Given the description of an element on the screen output the (x, y) to click on. 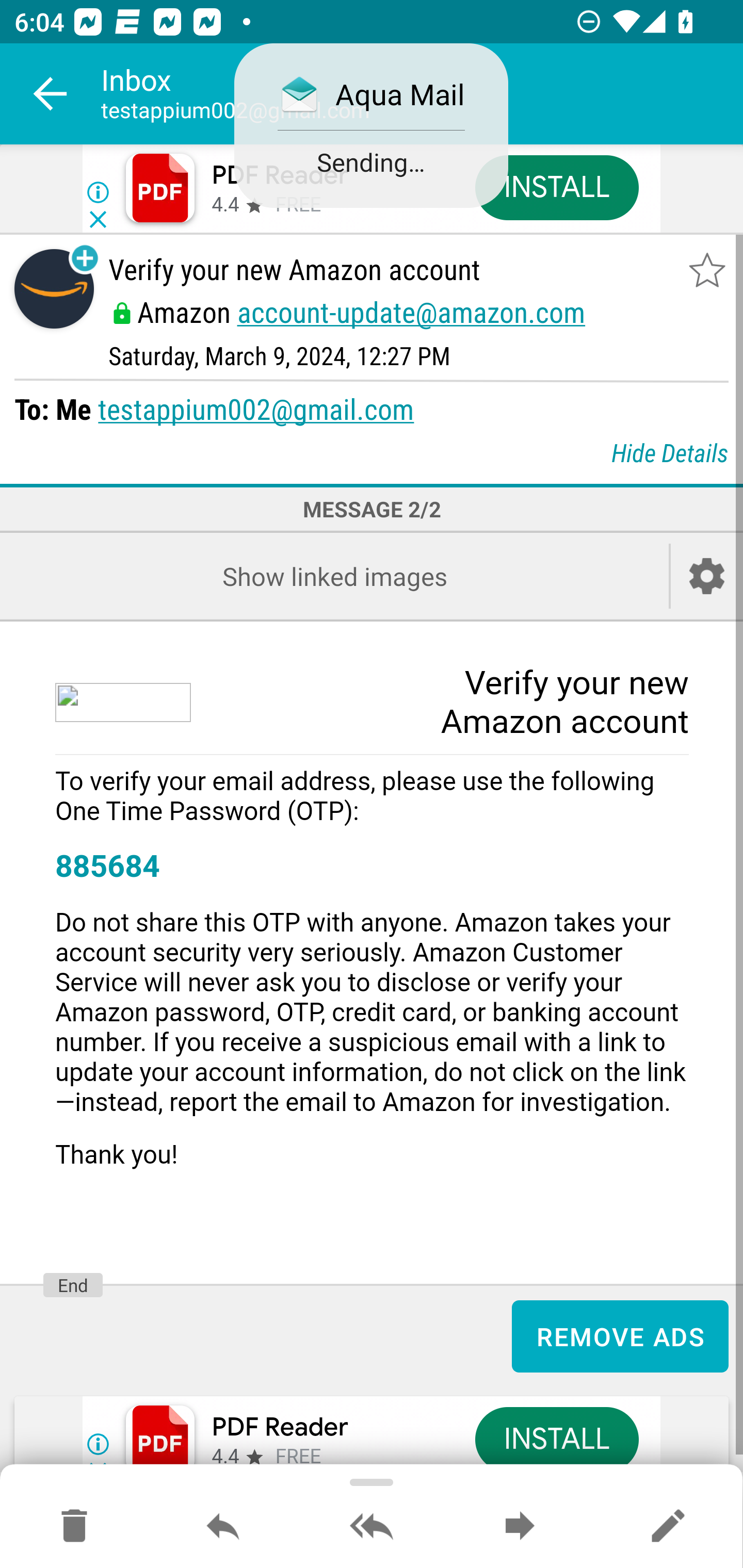
Navigate up (50, 93)
Inbox testappium002@gmail.com (422, 93)
INSTALL (556, 187)
PDF Reader (279, 175)
4.4 (224, 204)
FREE (298, 204)
Sender contact button (53, 289)
Show linked images (334, 576)
Account setup (706, 576)
885684 (107, 866)
REMOVE ADS (619, 1335)
INSTALL (556, 1439)
PDF Reader (279, 1427)
4.4 (224, 1457)
FREE (298, 1457)
Move to Deleted (74, 1527)
Reply (222, 1527)
Reply all (371, 1527)
Forward (519, 1527)
Reply as new (667, 1527)
